Given the description of an element on the screen output the (x, y) to click on. 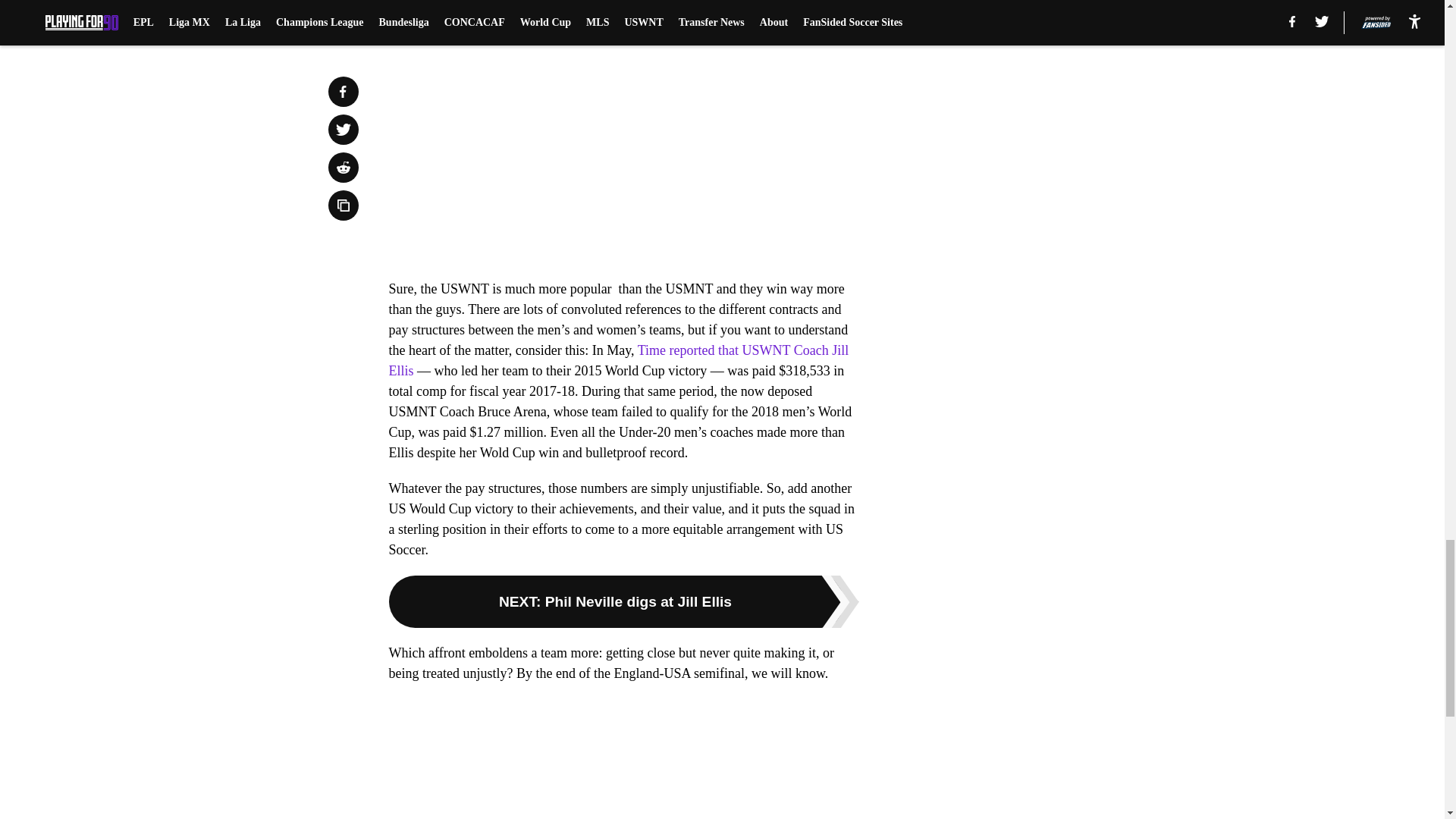
both sides agreed to mediate the suit. (615, 11)
Time reported that USWNT Coach Jill Ellis (618, 360)
NEXT: Phil Neville digs at Jill Ellis (623, 601)
